Given the description of an element on the screen output the (x, y) to click on. 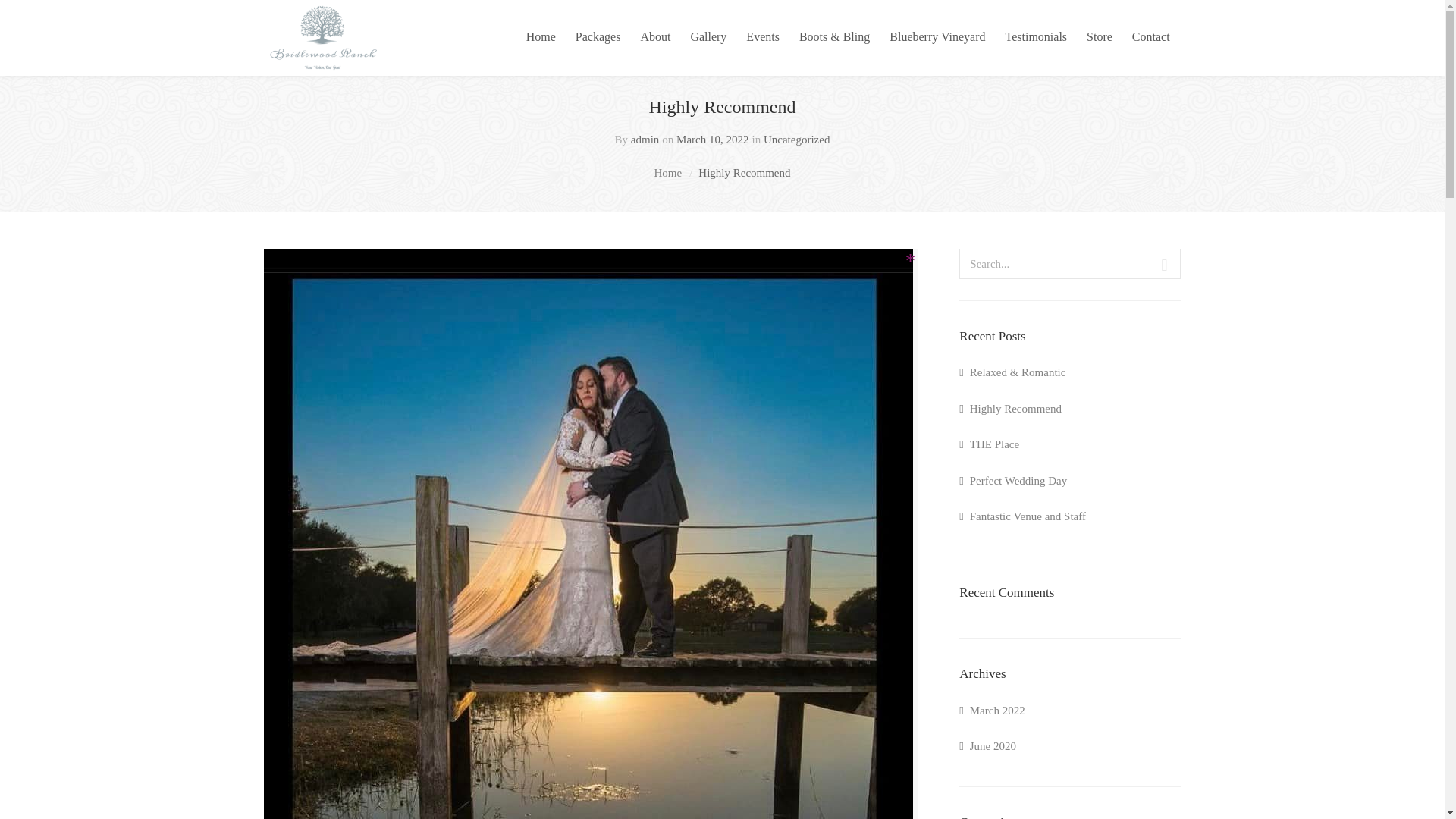
Uncategorized (795, 139)
Blueberry Vineyard (936, 38)
About (654, 38)
Testimonials (1036, 38)
Fantastic Venue and Staff (1022, 516)
Gallery (707, 38)
Home (541, 38)
Home (667, 173)
admin (644, 139)
Contact (1150, 38)
Events (762, 38)
June 2020 (989, 746)
Store (1099, 38)
Highly Recommend (1010, 408)
Packages (598, 38)
